Given the description of an element on the screen output the (x, y) to click on. 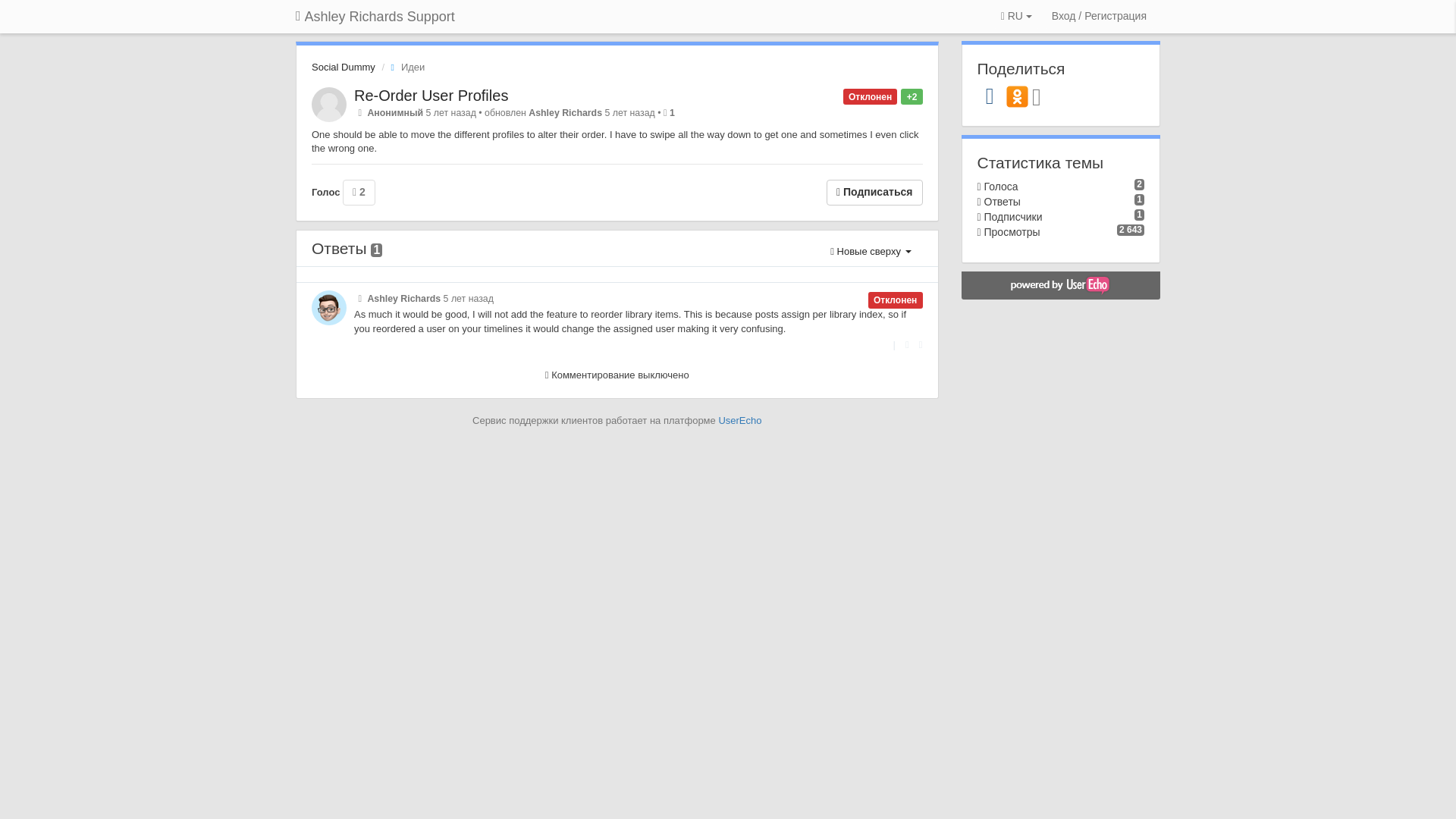
Social Dummy (343, 66)
Ashley Richards Support (374, 16)
RU (1016, 16)
